Given the description of an element on the screen output the (x, y) to click on. 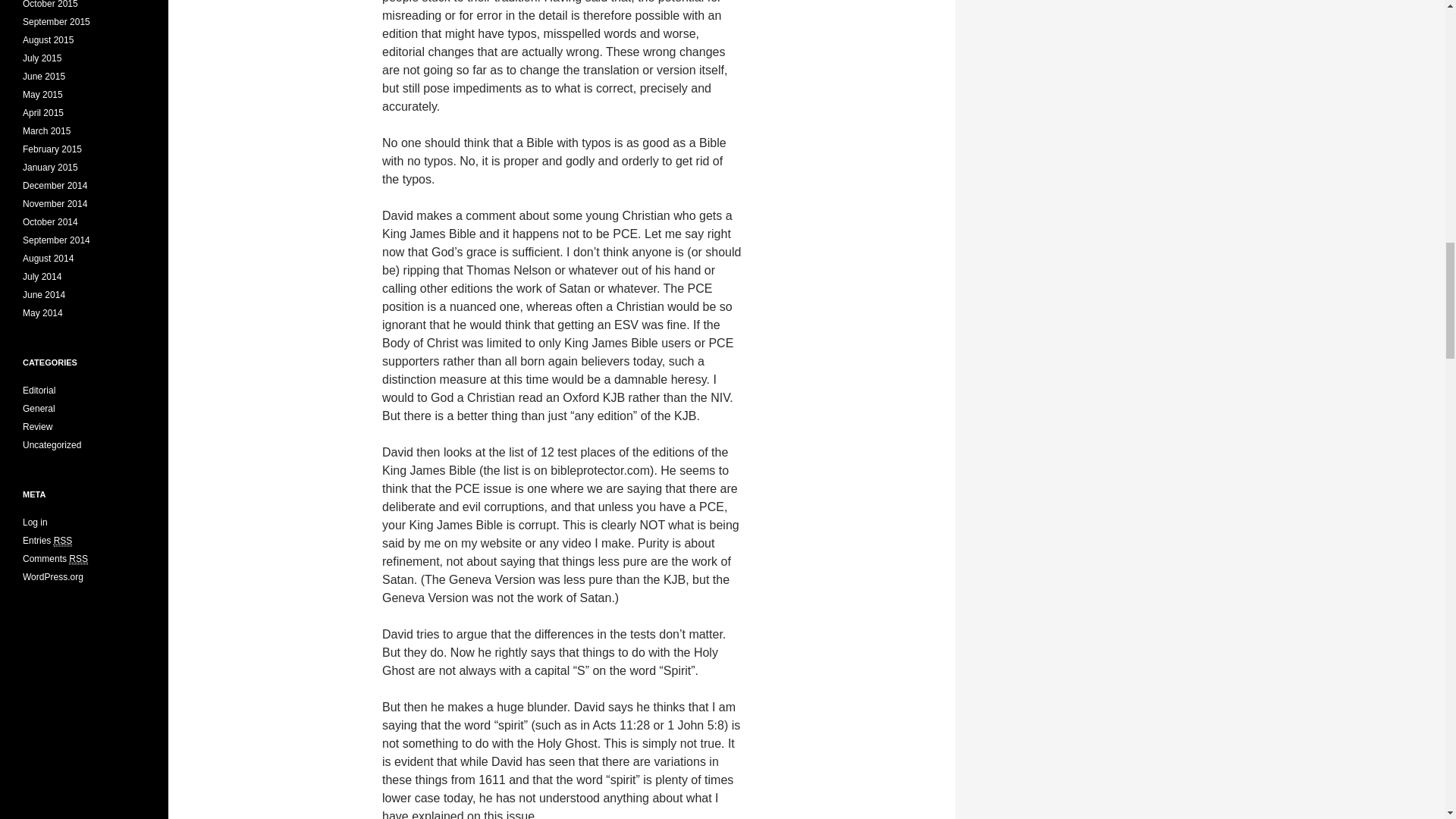
Really Simple Syndication (62, 541)
Really Simple Syndication (77, 559)
